Given the description of an element on the screen output the (x, y) to click on. 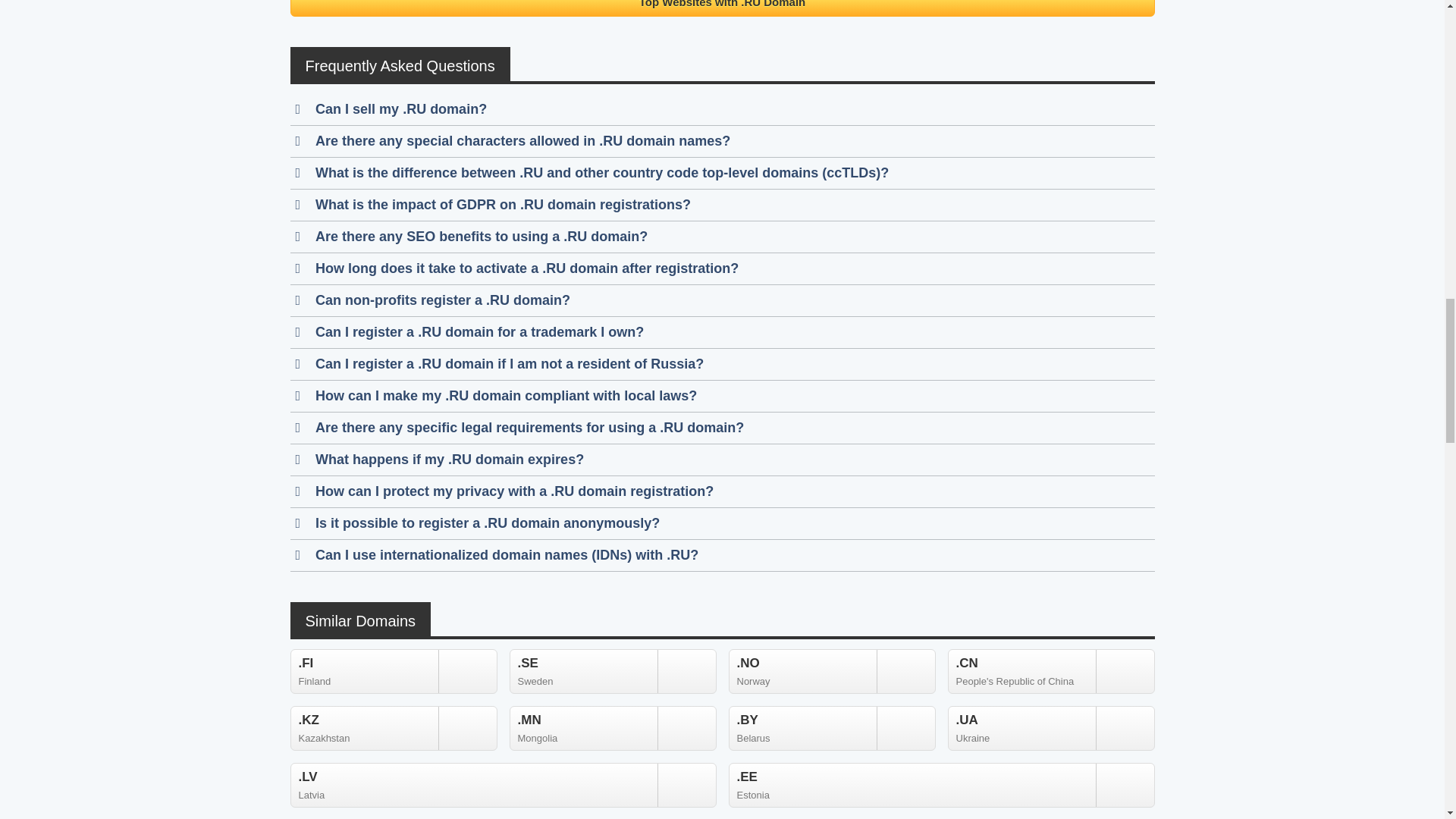
Top Websites with .RU Domain (392, 671)
